Given the description of an element on the screen output the (x, y) to click on. 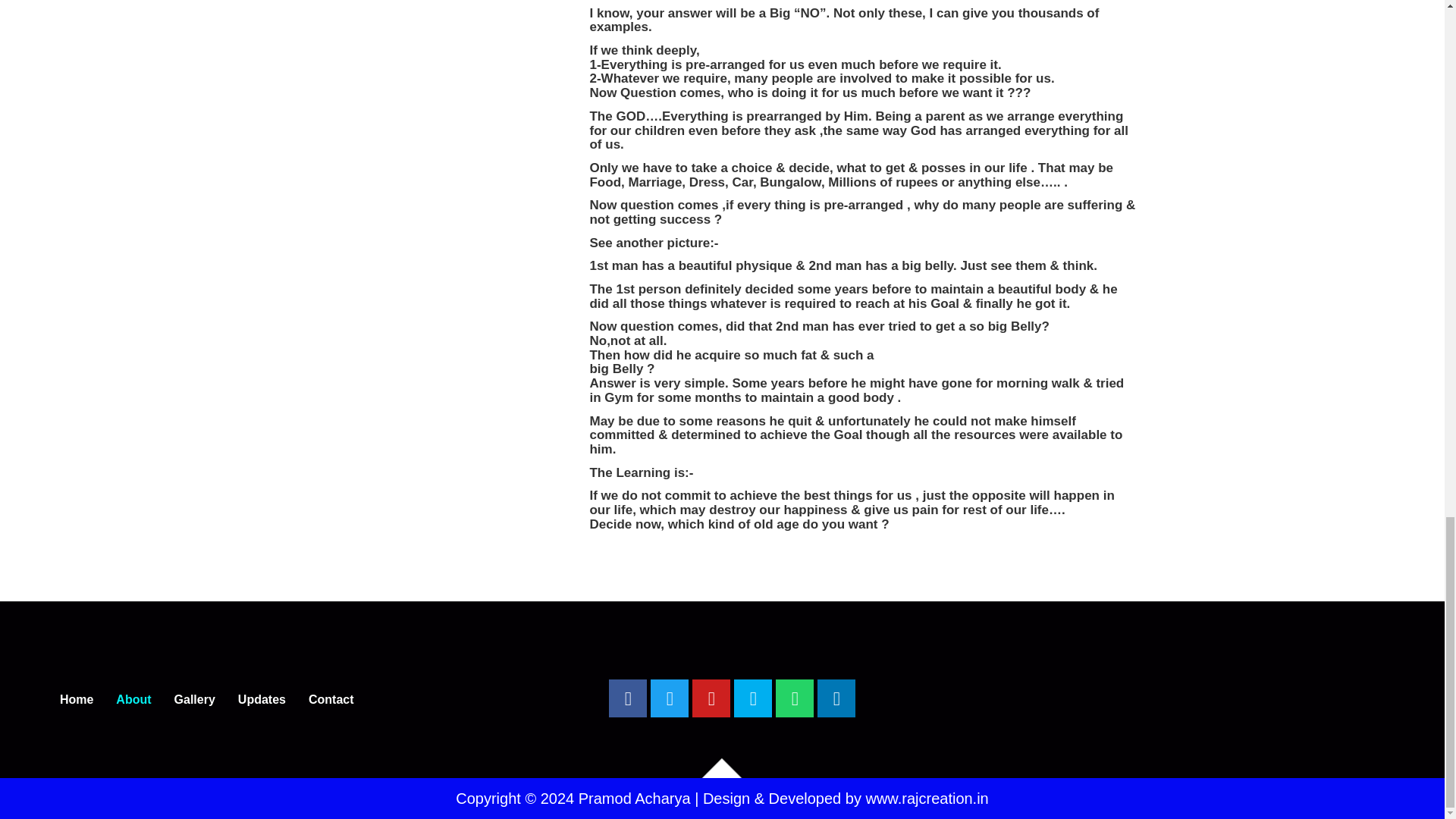
About (132, 699)
Home (76, 699)
Gallery (195, 699)
Contact (331, 699)
Updates (262, 699)
